Given the description of an element on the screen output the (x, y) to click on. 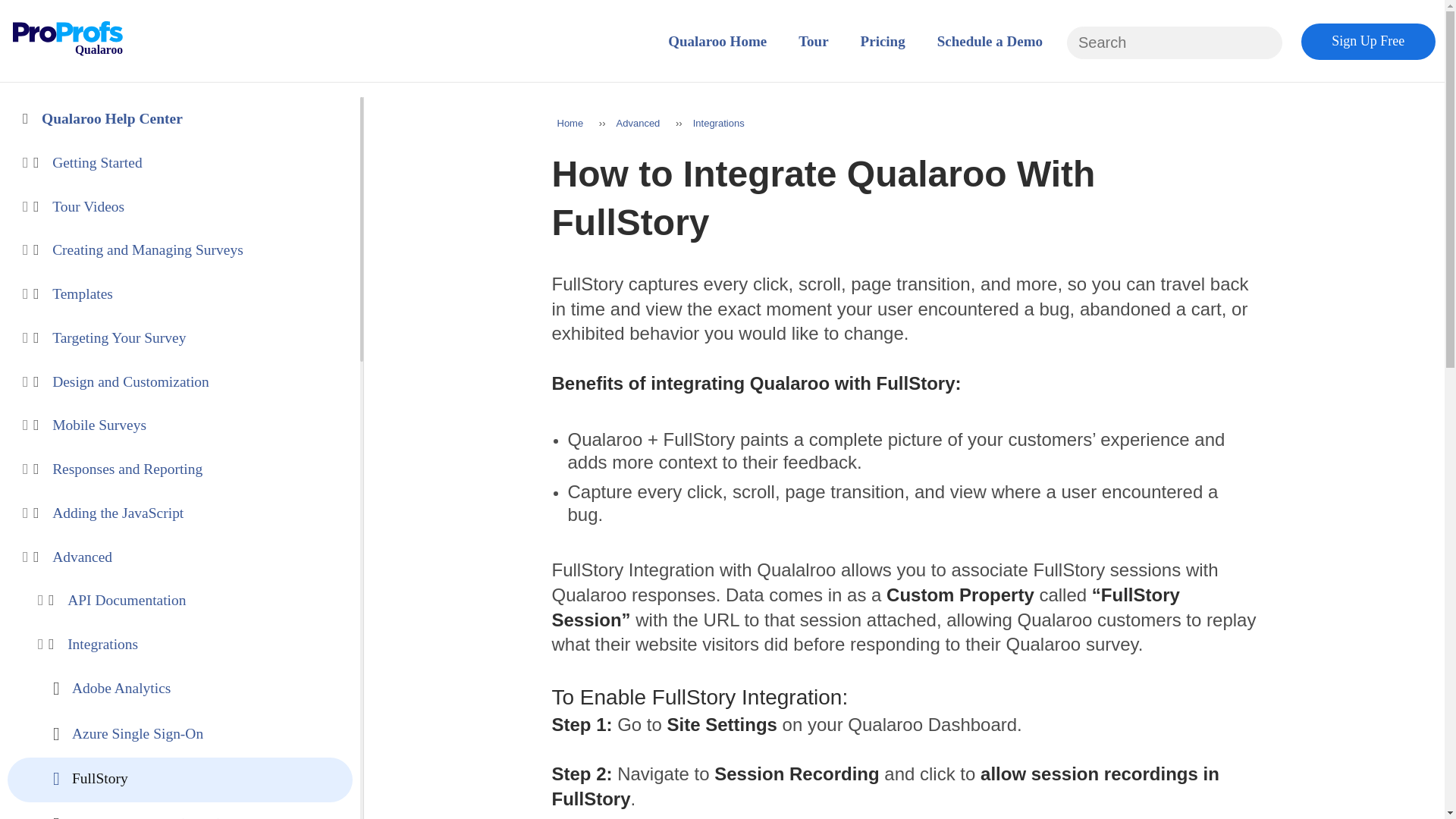
Responses and Reporting (194, 469)
Home (722, 40)
Targeting Your Survey (194, 338)
Adding the JavaScript (194, 513)
Design and Customization (194, 382)
Qualaroo (67, 52)
Adobe Analytics (189, 689)
Getting Started (194, 163)
Tour (813, 40)
Take A Tour (813, 40)
